Given the description of an element on the screen output the (x, y) to click on. 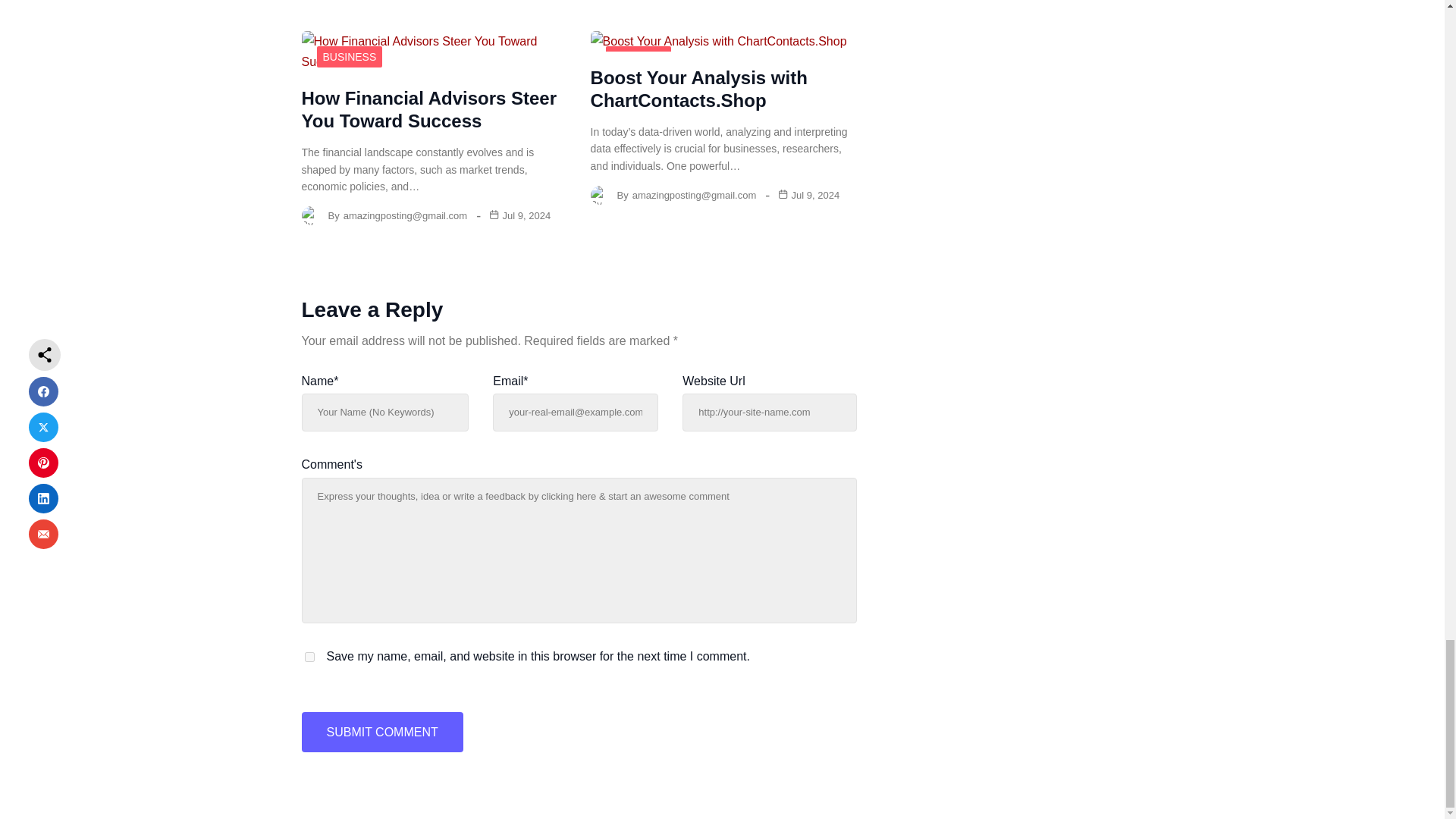
BUSINESS (349, 56)
SUBMIT COMMENT (382, 731)
How Financial Advisors Steer You Toward Success (429, 109)
yes (309, 656)
